Given the description of an element on the screen output the (x, y) to click on. 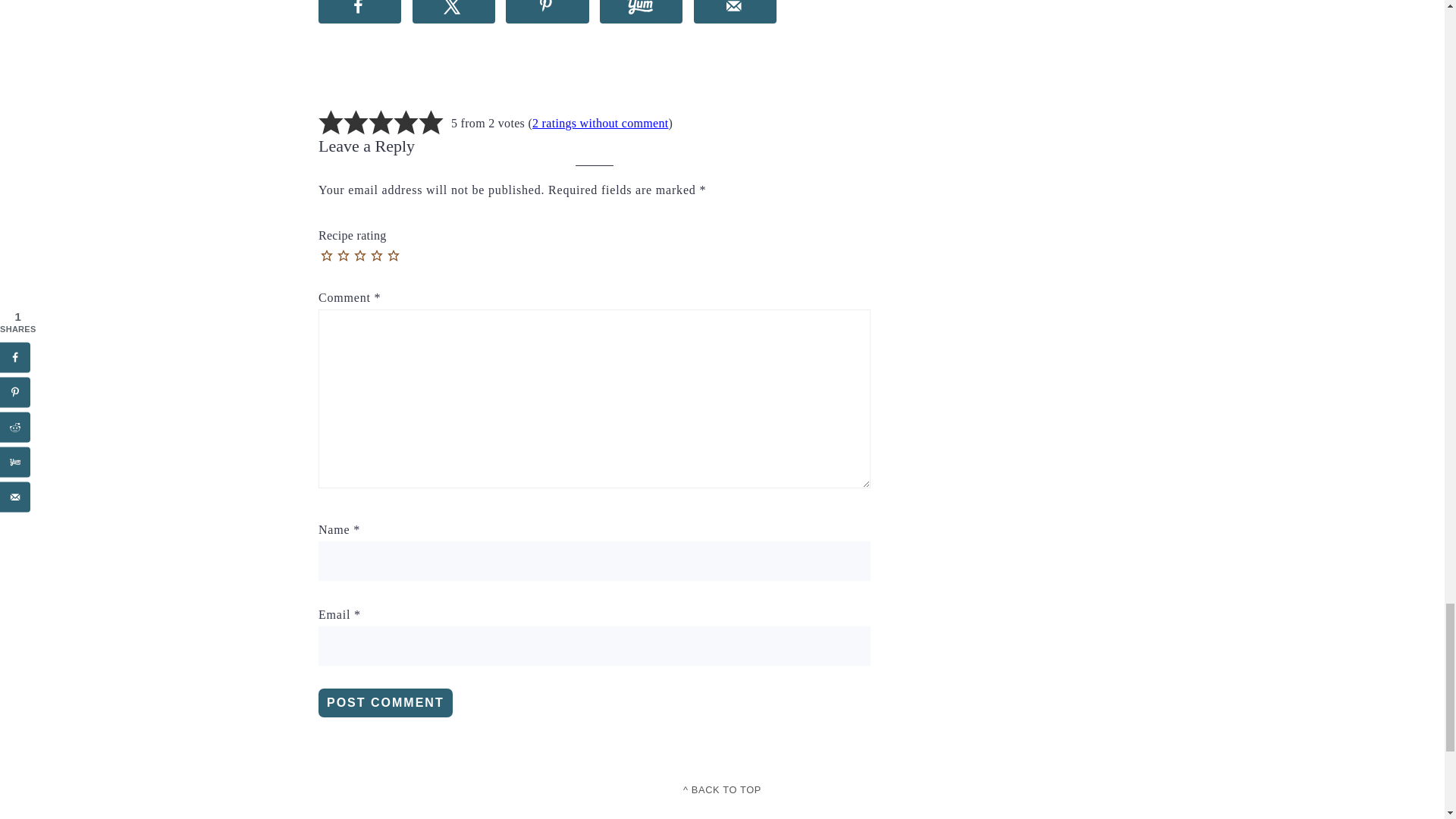
Share on Facebook (359, 11)
Share on Yummly (640, 11)
Post Comment (385, 702)
Share on X (453, 11)
Save to Pinterest (546, 11)
Send over email (735, 11)
